Given the description of an element on the screen output the (x, y) to click on. 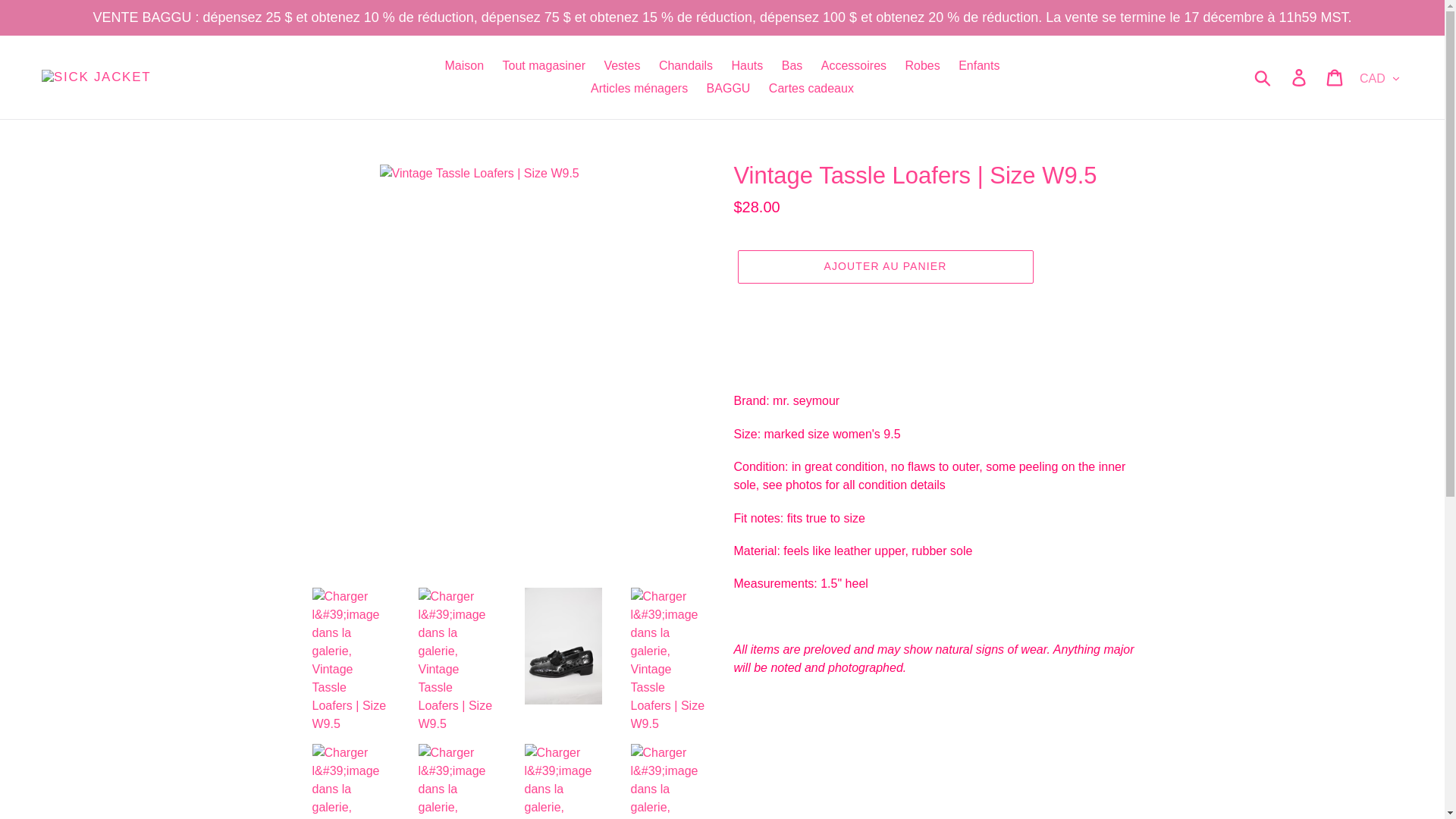
BAGGU (728, 87)
Chandails (685, 65)
Vestes (621, 65)
Maison (465, 65)
Enfants (978, 65)
Bas (792, 65)
Soumettre (1263, 77)
Se connecter (1299, 77)
Tout magasiner (543, 65)
Cartes cadeaux (811, 87)
